Given the description of an element on the screen output the (x, y) to click on. 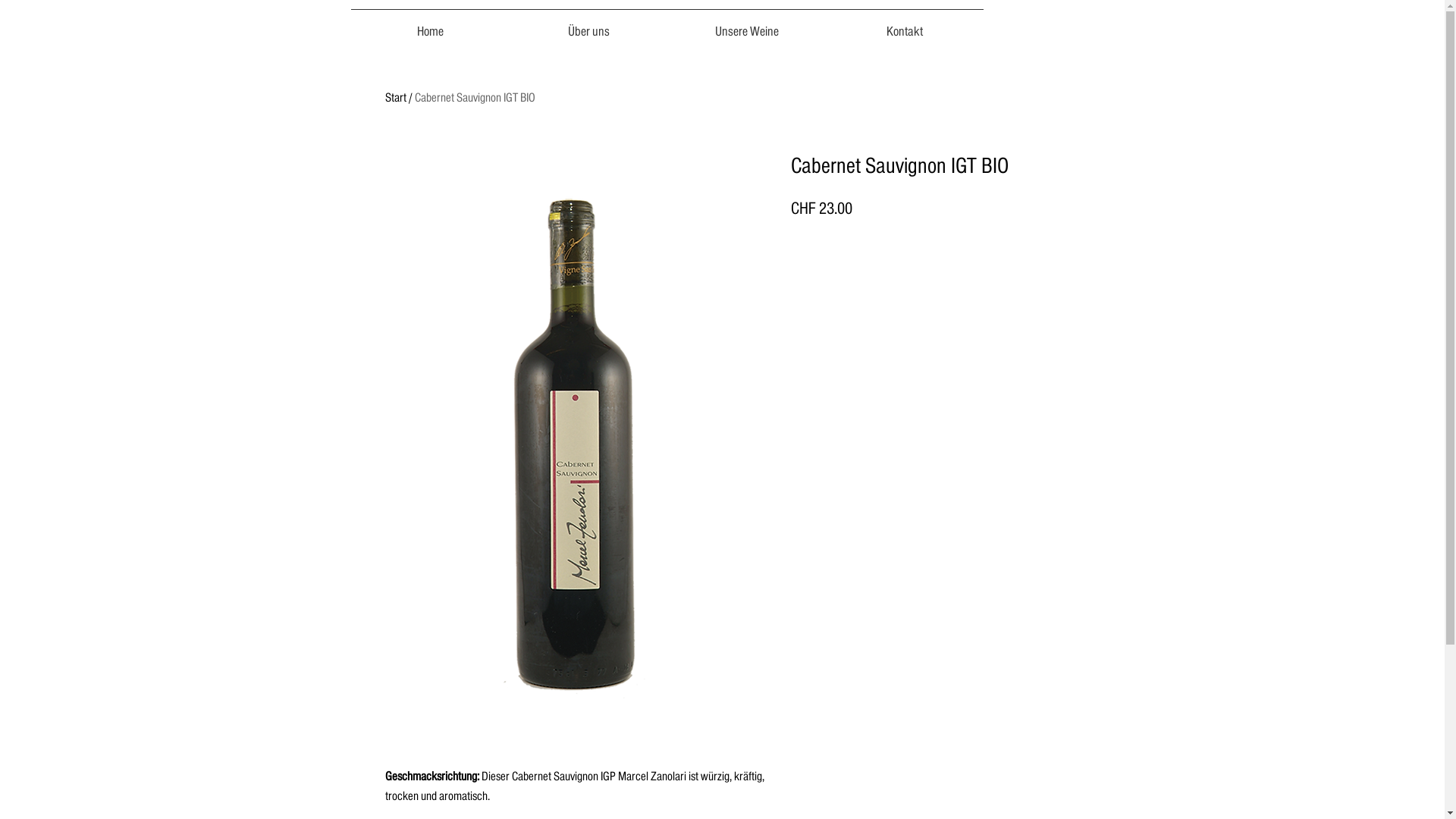
Cabernet Sauvignon IGT BIO Element type: text (474, 97)
Start Element type: text (395, 97)
Kontakt Element type: text (903, 24)
Home Element type: text (429, 24)
Unsere Weine Element type: text (746, 24)
